Given the description of an element on the screen output the (x, y) to click on. 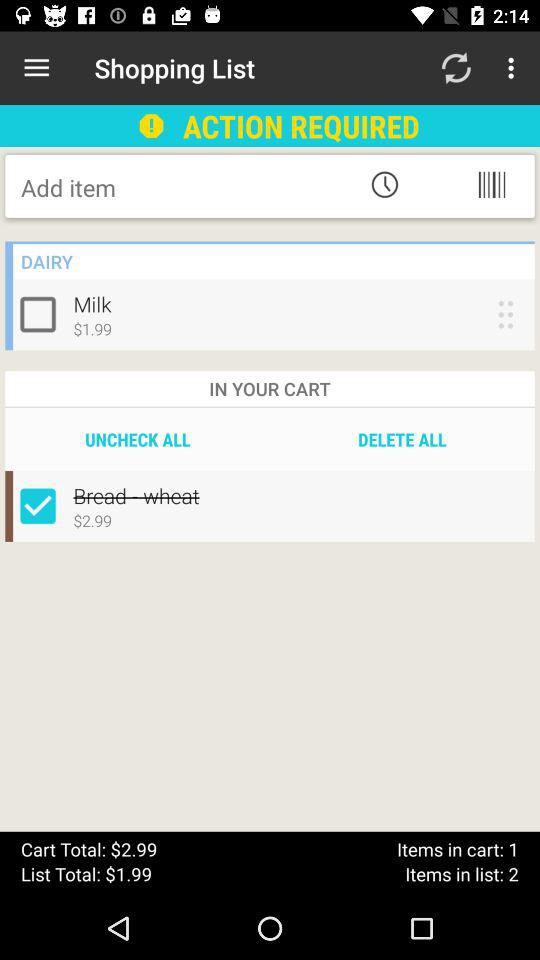
launch item next to the uncheck all (402, 439)
